Given the description of an element on the screen output the (x, y) to click on. 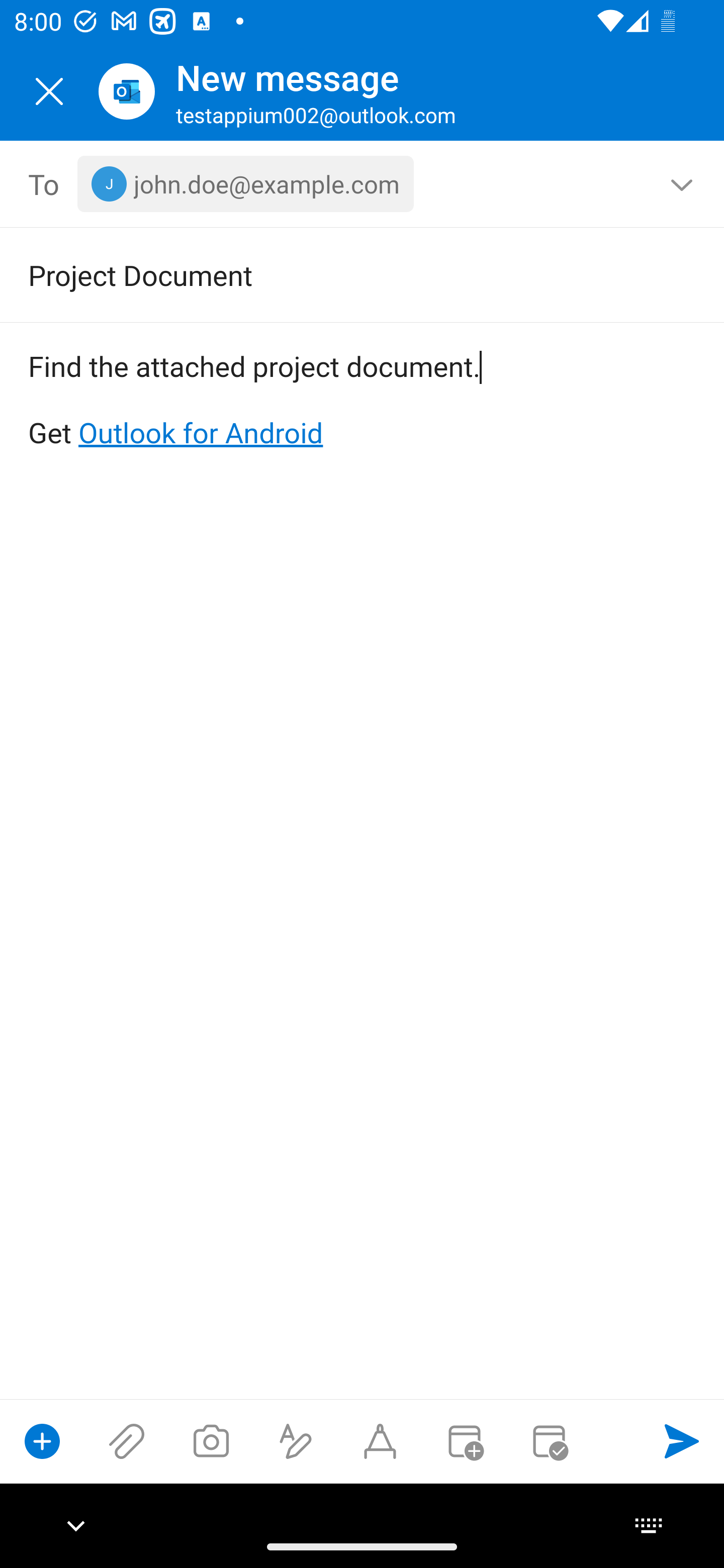
Close (49, 91)
To, 1 recipient <john.doe@example.com> (362, 184)
Project Document (333, 274)
Show compose options (42, 1440)
Attach files (126, 1440)
Take a photo (210, 1440)
Show formatting options (295, 1440)
Start Ink compose (380, 1440)
Convert to event (464, 1440)
Send availability (548, 1440)
Send (681, 1440)
